Given the description of an element on the screen output the (x, y) to click on. 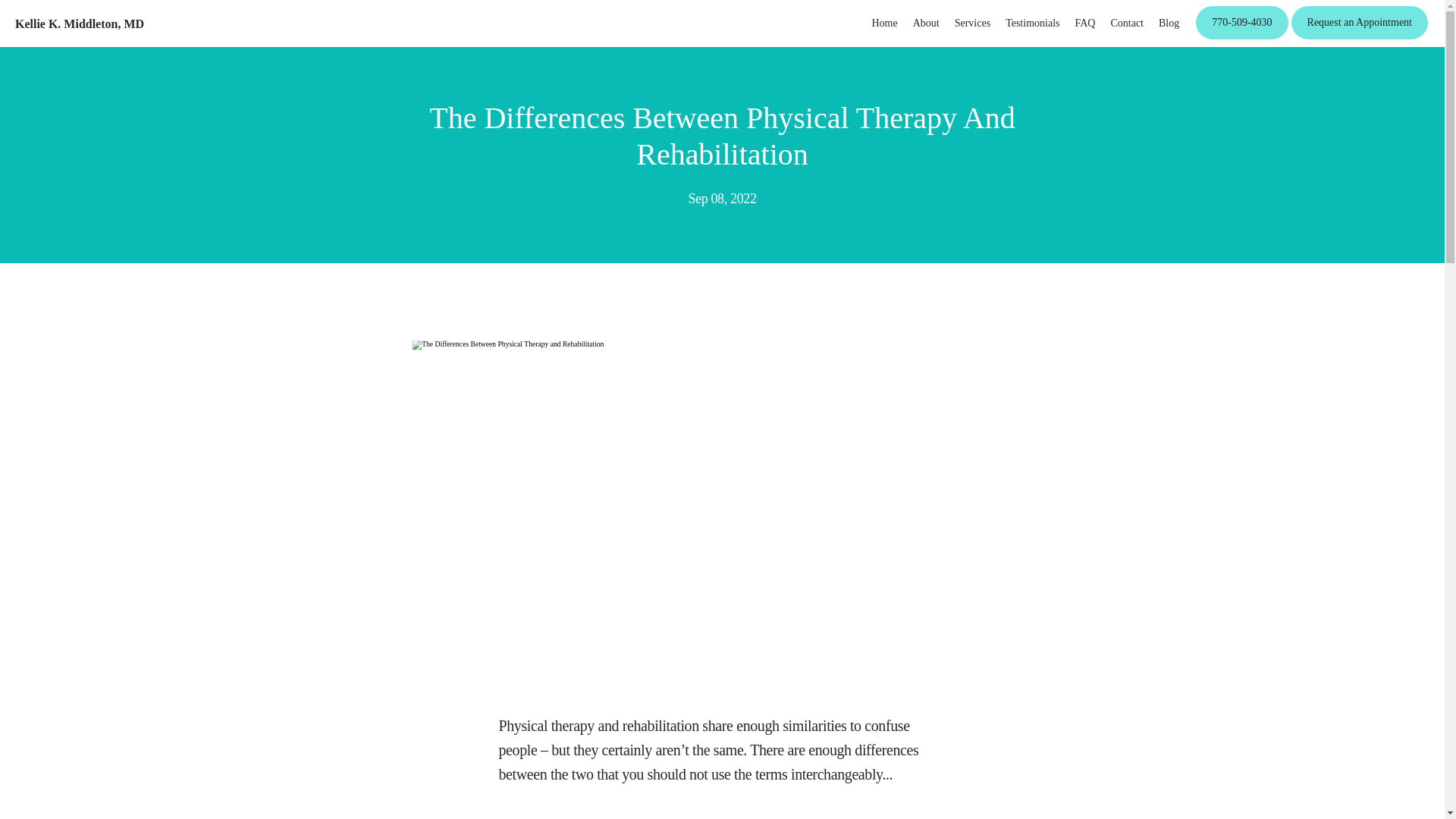
Testimonials (1032, 22)
Blog (1168, 22)
Services (972, 22)
Contact (1125, 22)
Request an Appointment (1359, 37)
About (925, 22)
Home (883, 22)
770-509-4030 (1240, 37)
FAQ (1084, 22)
